Given the description of an element on the screen output the (x, y) to click on. 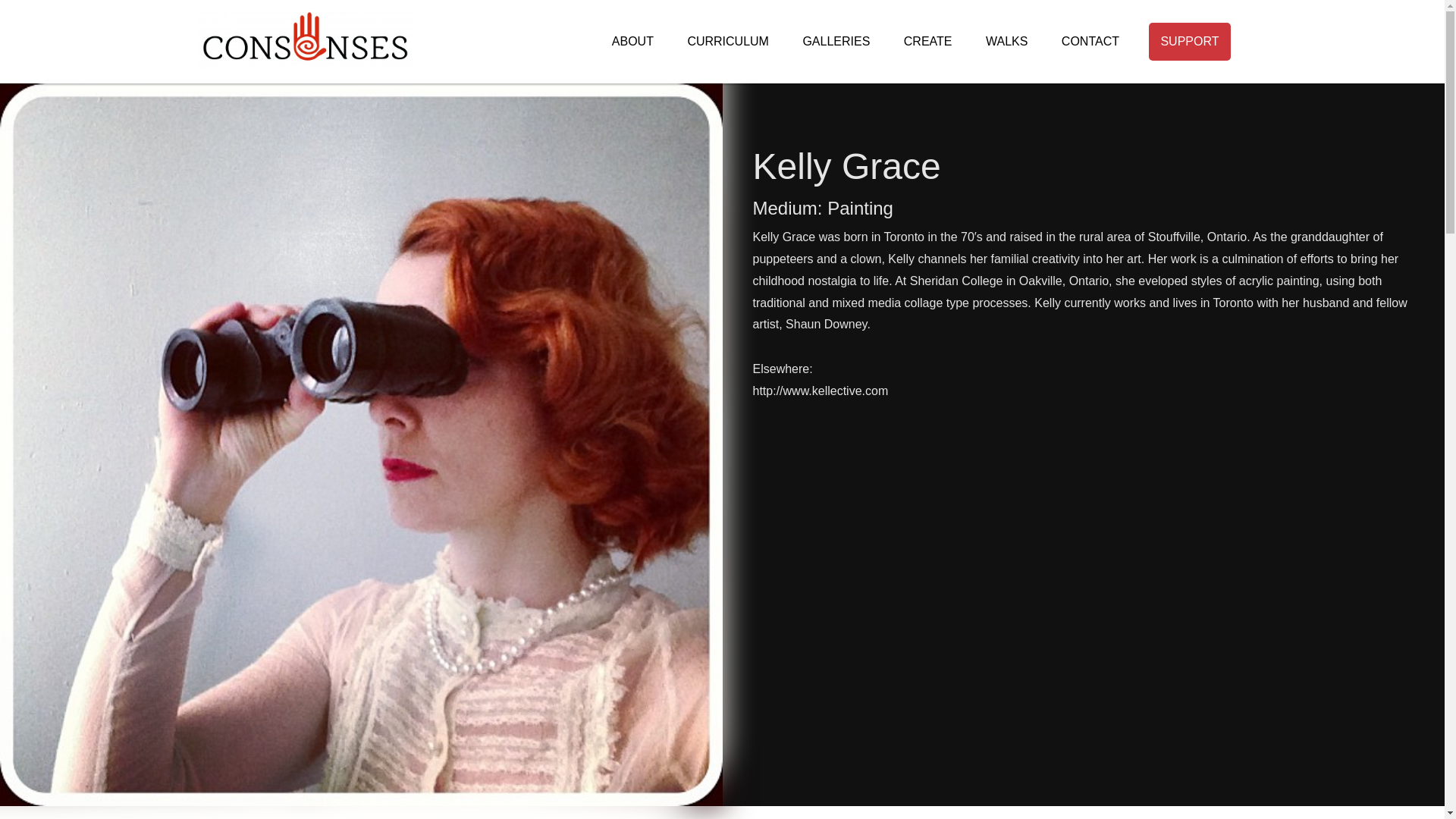
SUPPORT (1189, 40)
ABOUT (633, 40)
CURRICULUM (727, 40)
CONTACT (1090, 40)
WALKS (1005, 40)
CREATE (927, 40)
GALLERIES (835, 40)
